Given the description of an element on the screen output the (x, y) to click on. 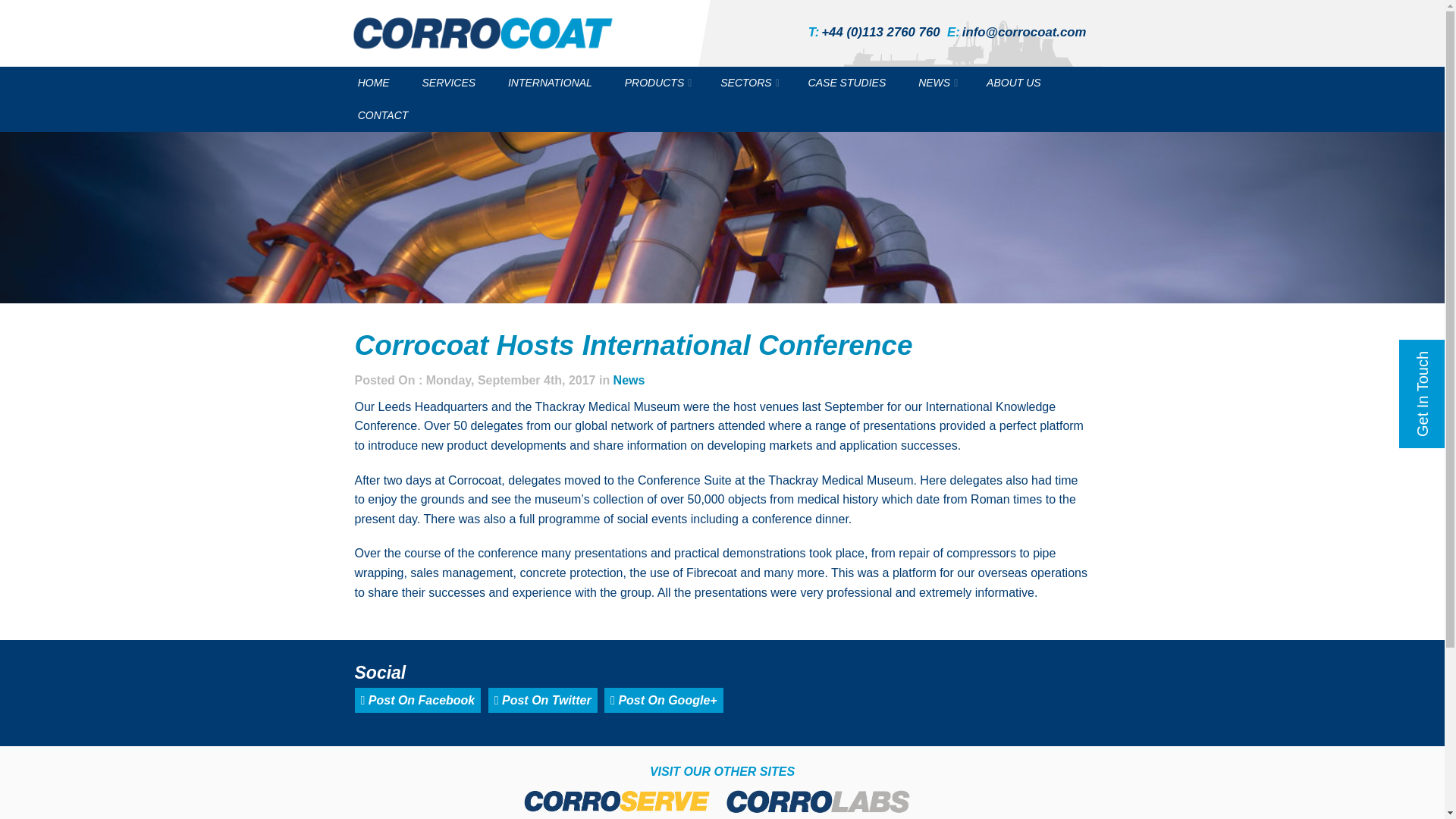
Post On Facebook (418, 699)
ABOUT US (1013, 82)
HOME (372, 82)
Post On Twitter (541, 699)
CONTACT (382, 115)
NEWS (936, 82)
CASE STUDIES (846, 82)
INTERNATIONAL (550, 82)
SERVICES (448, 82)
Corrocoat Hosts International Conference (633, 345)
News (628, 379)
PRODUCTS (656, 82)
SECTORS (748, 82)
